Given the description of an element on the screen output the (x, y) to click on. 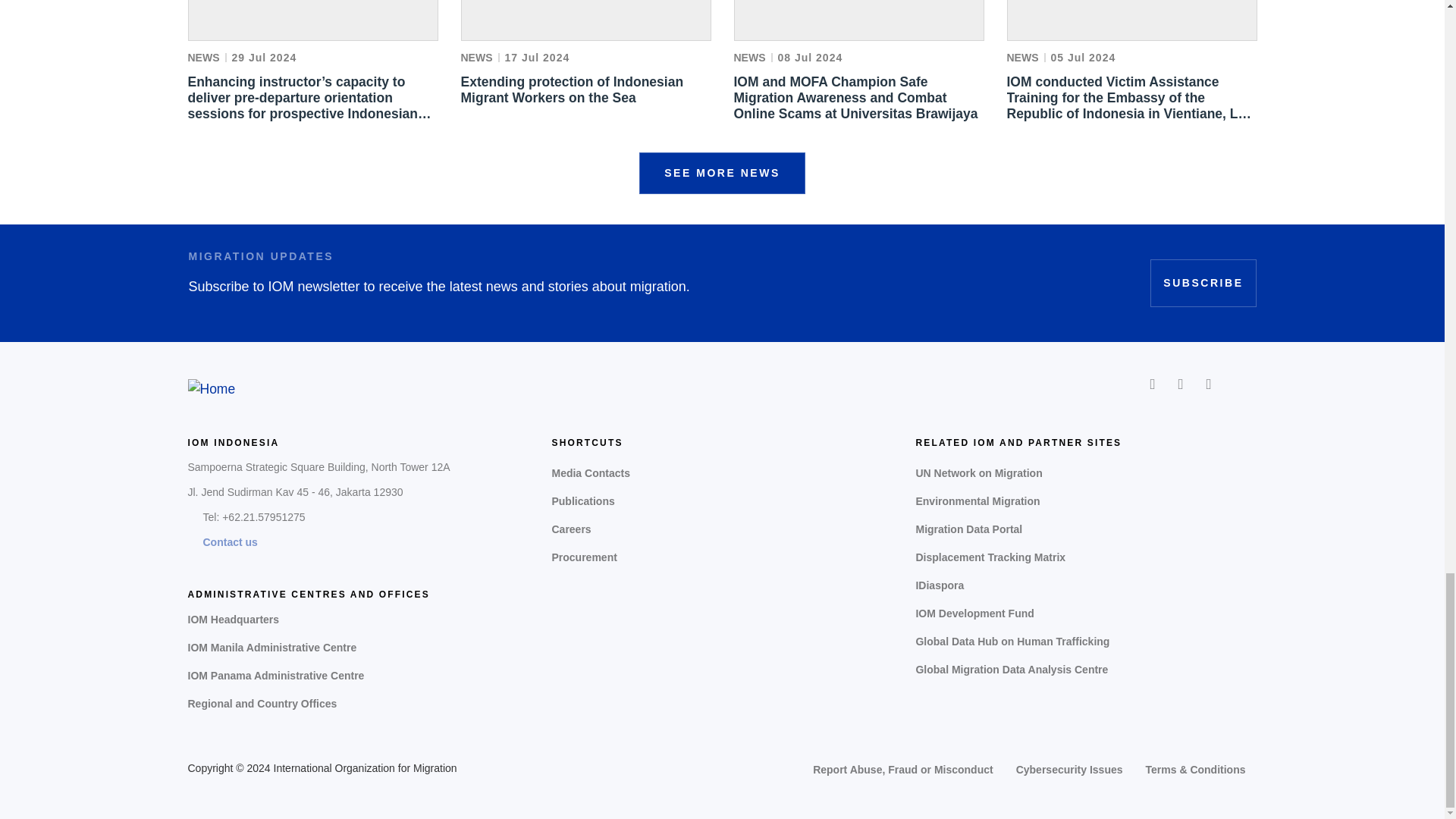
Contact Us (230, 542)
Home (211, 388)
